Given the description of an element on the screen output the (x, y) to click on. 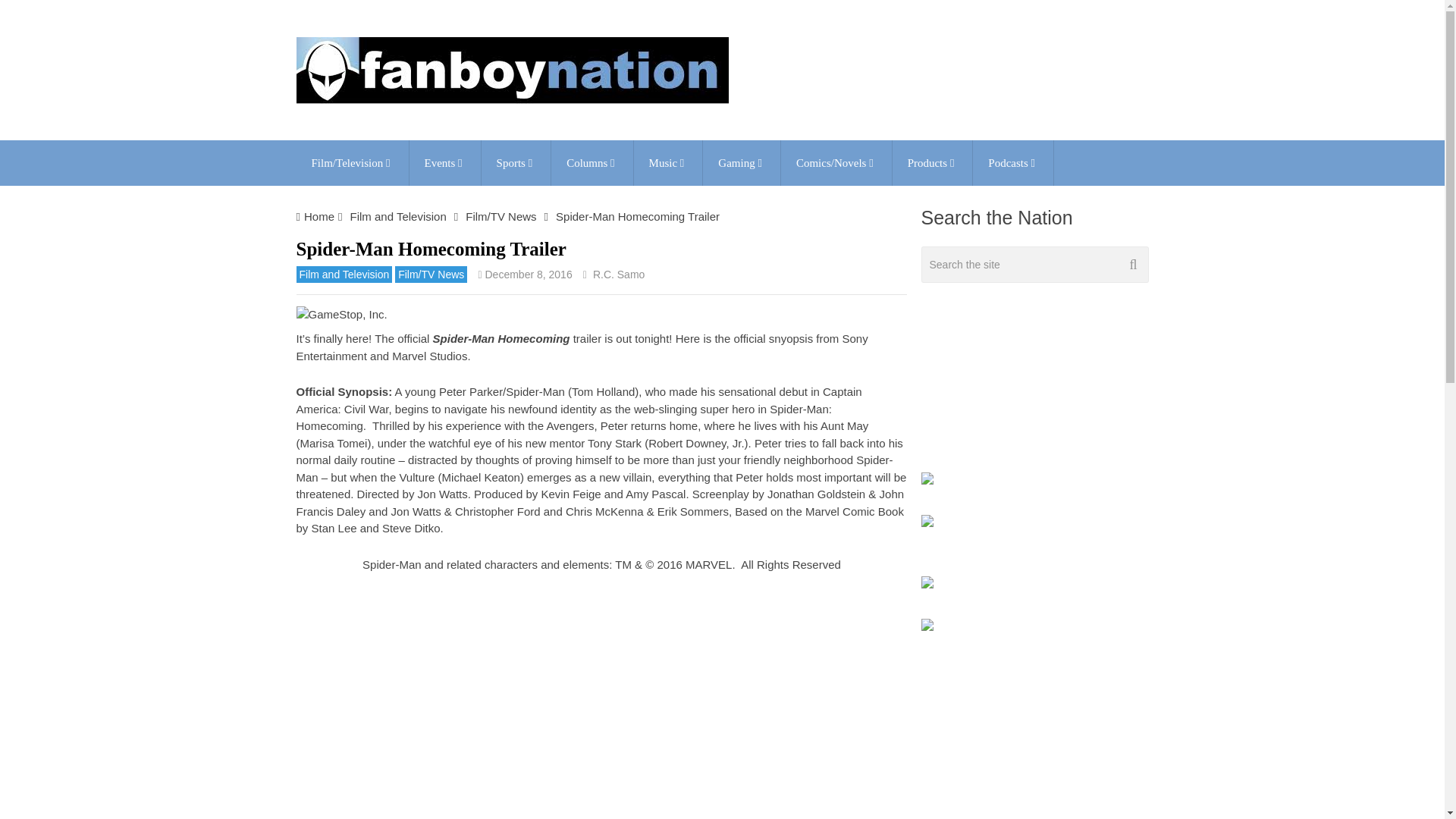
Music (668, 162)
Sports (516, 162)
Gaming (741, 162)
Products (932, 162)
Columns (591, 162)
Podcasts (1012, 162)
Events (444, 162)
Cons and Expos (444, 162)
